Given the description of an element on the screen output the (x, y) to click on. 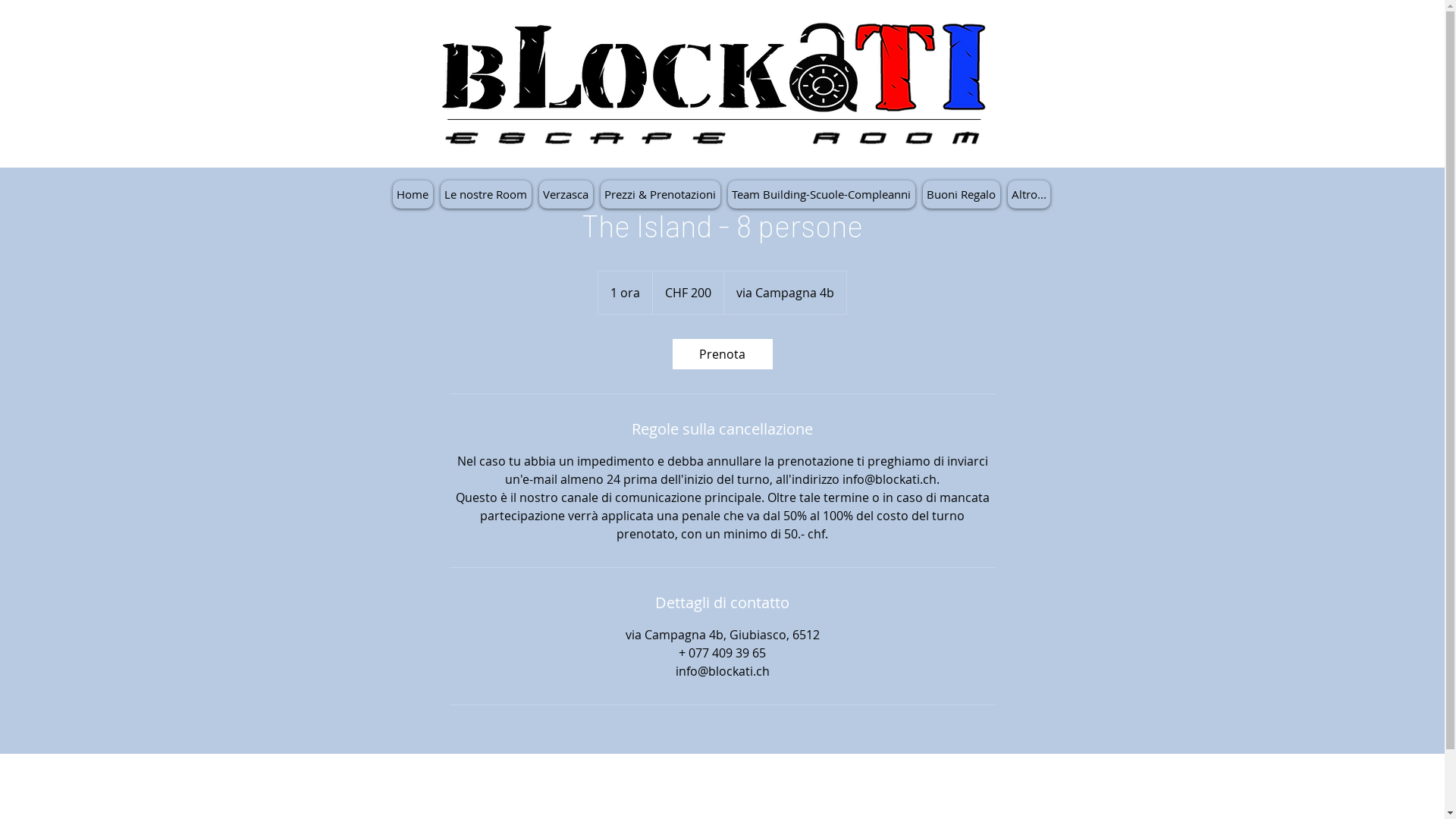
Prenota Element type: text (721, 353)
Prezzi & Prenotazioni Element type: text (660, 194)
Buoni Regalo Element type: text (960, 194)
Home Element type: text (412, 194)
logo definitivo per sfondo nero.png Element type: hover (714, 92)
Verzasca Element type: text (565, 194)
Team Building-Scuole-Compleanni Element type: text (821, 194)
Le nostre Room Element type: text (484, 194)
